Given the description of an element on the screen output the (x, y) to click on. 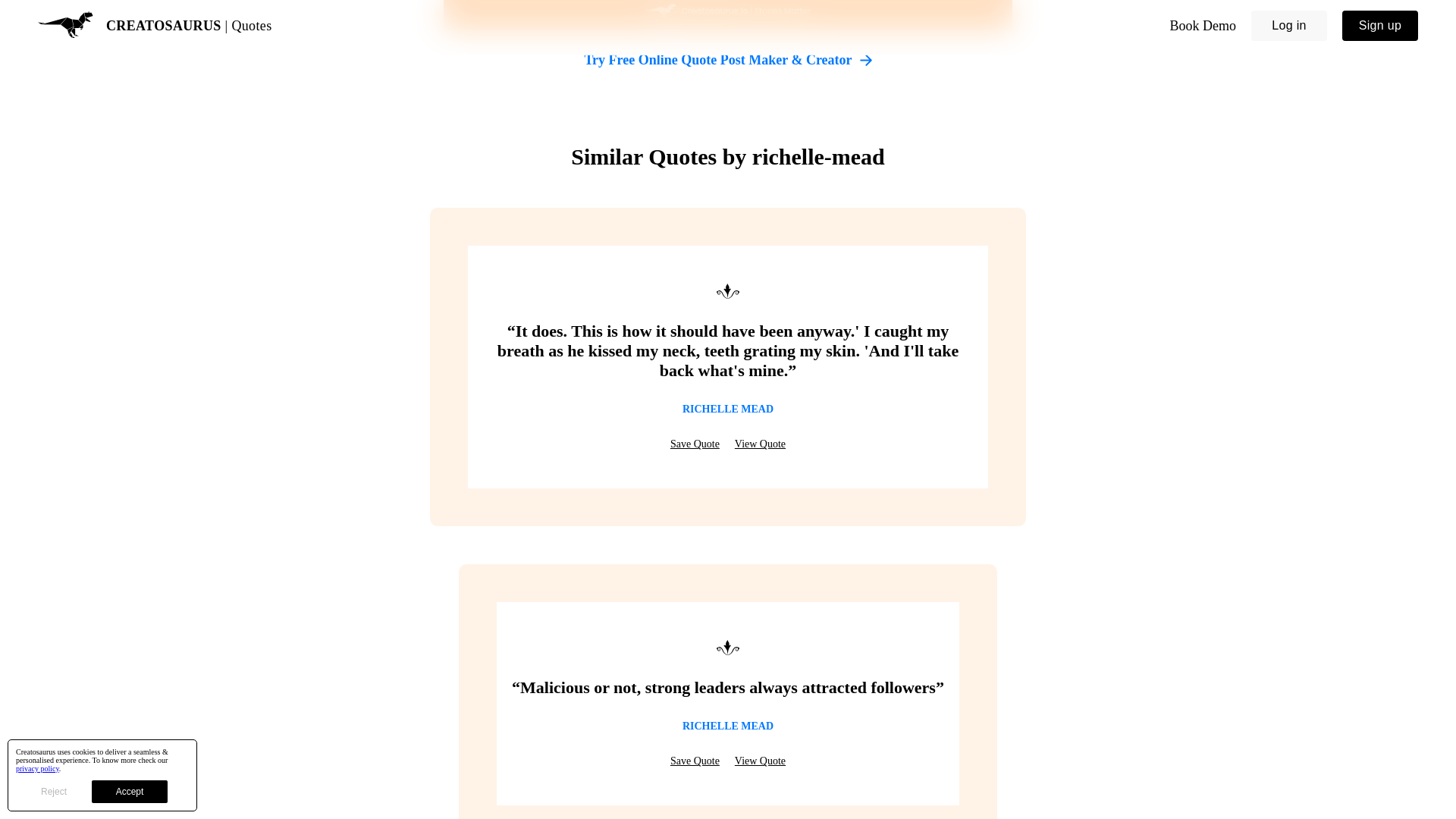
RICHELLE MEAD (727, 726)
RICHELLE MEAD (727, 409)
View Quote (760, 444)
View Quote (760, 761)
